Given the description of an element on the screen output the (x, y) to click on. 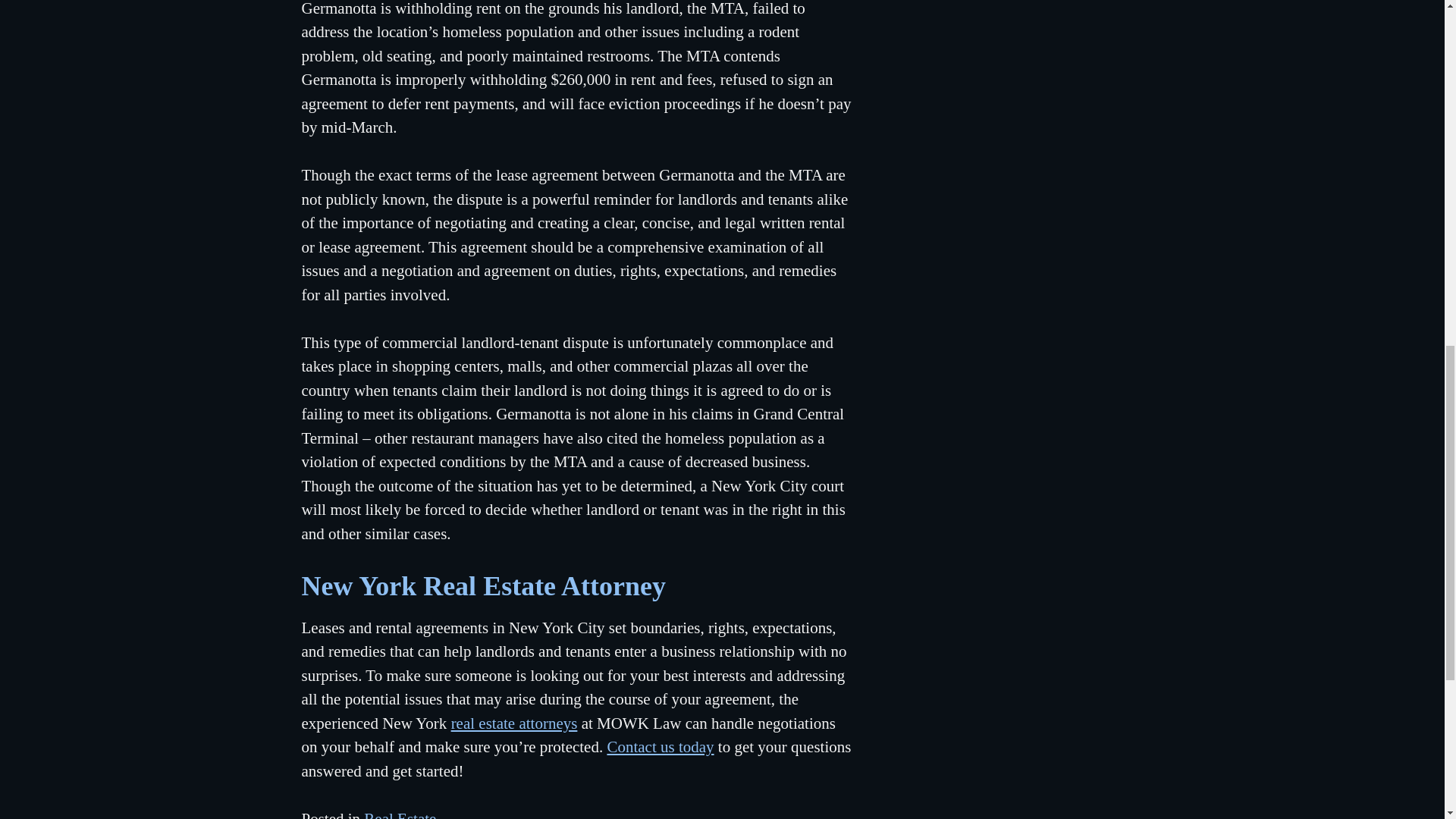
Contact us today (660, 746)
Real Estate (399, 814)
real estate attorneys (514, 723)
